Given the description of an element on the screen output the (x, y) to click on. 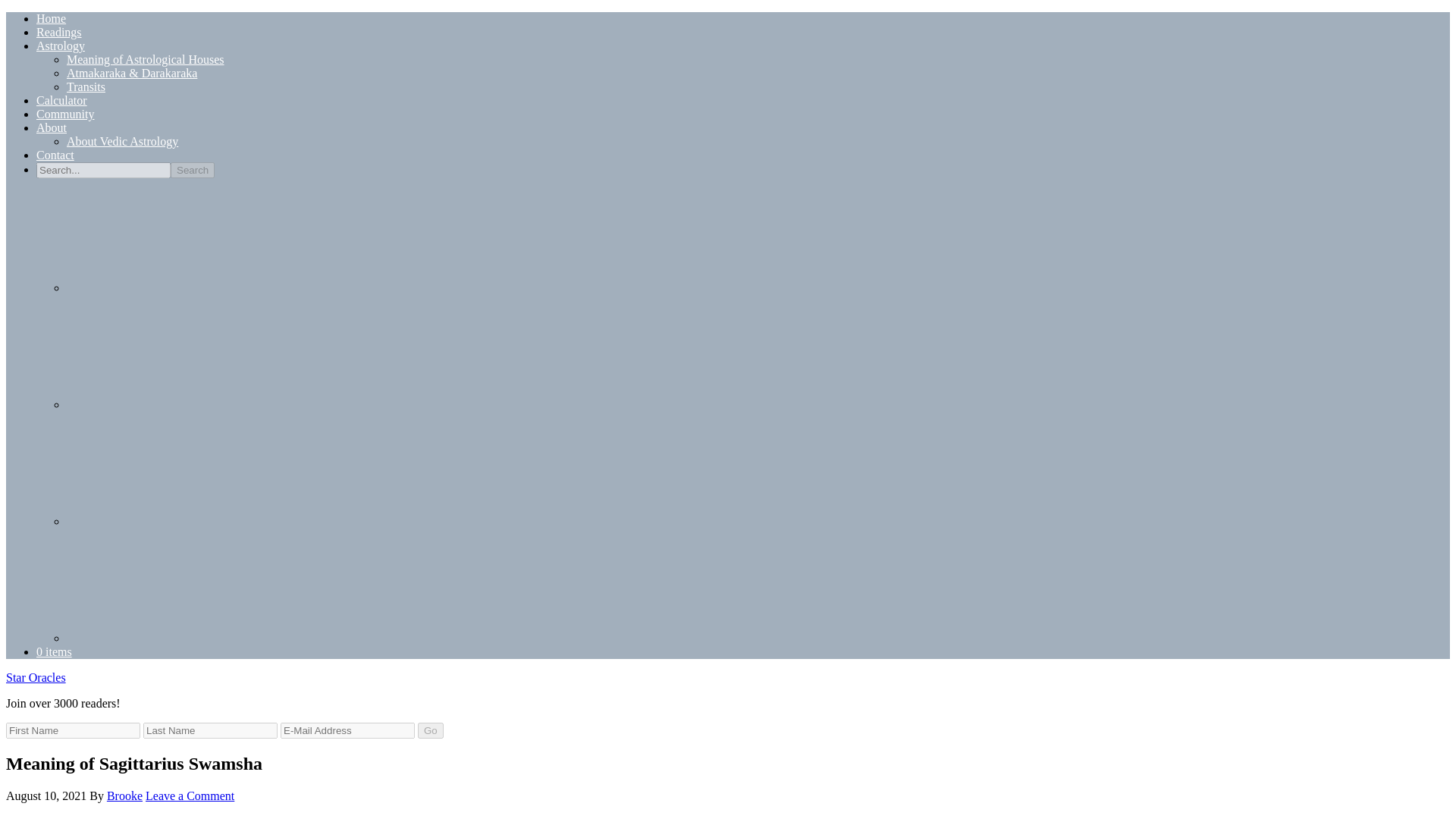
YouTube (180, 637)
Search (192, 170)
About Vedic Astrology (121, 141)
Search (192, 170)
Contact (55, 154)
Meaning of Astrological Houses (145, 59)
Twitter (180, 521)
YouTube (180, 585)
Star Oracles (35, 676)
Transits (85, 86)
Go (430, 730)
Email (180, 234)
Search (192, 170)
Instagram (180, 351)
Readings (58, 31)
